Given the description of an element on the screen output the (x, y) to click on. 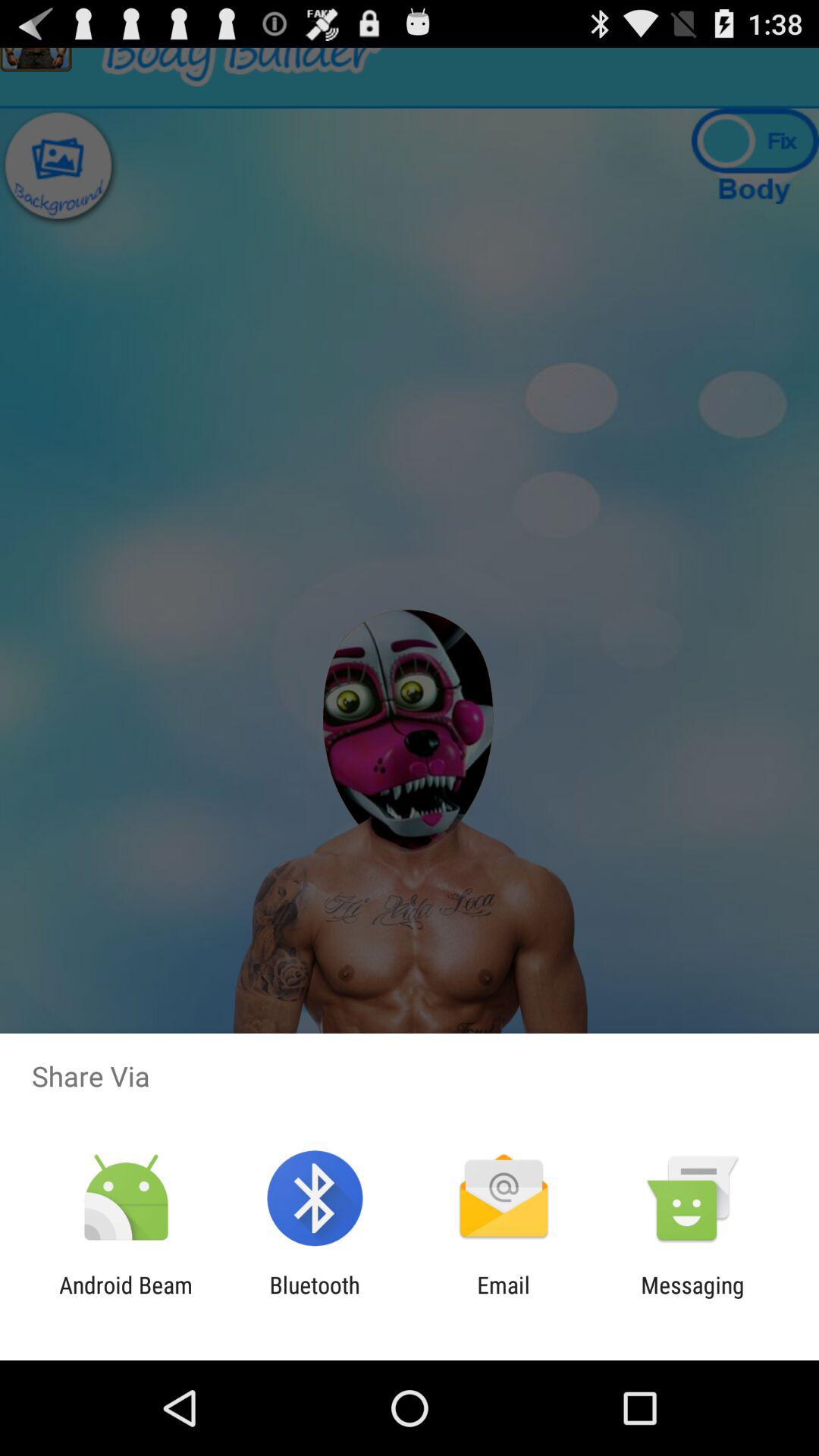
click the icon next to bluetooth app (503, 1298)
